Given the description of an element on the screen output the (x, y) to click on. 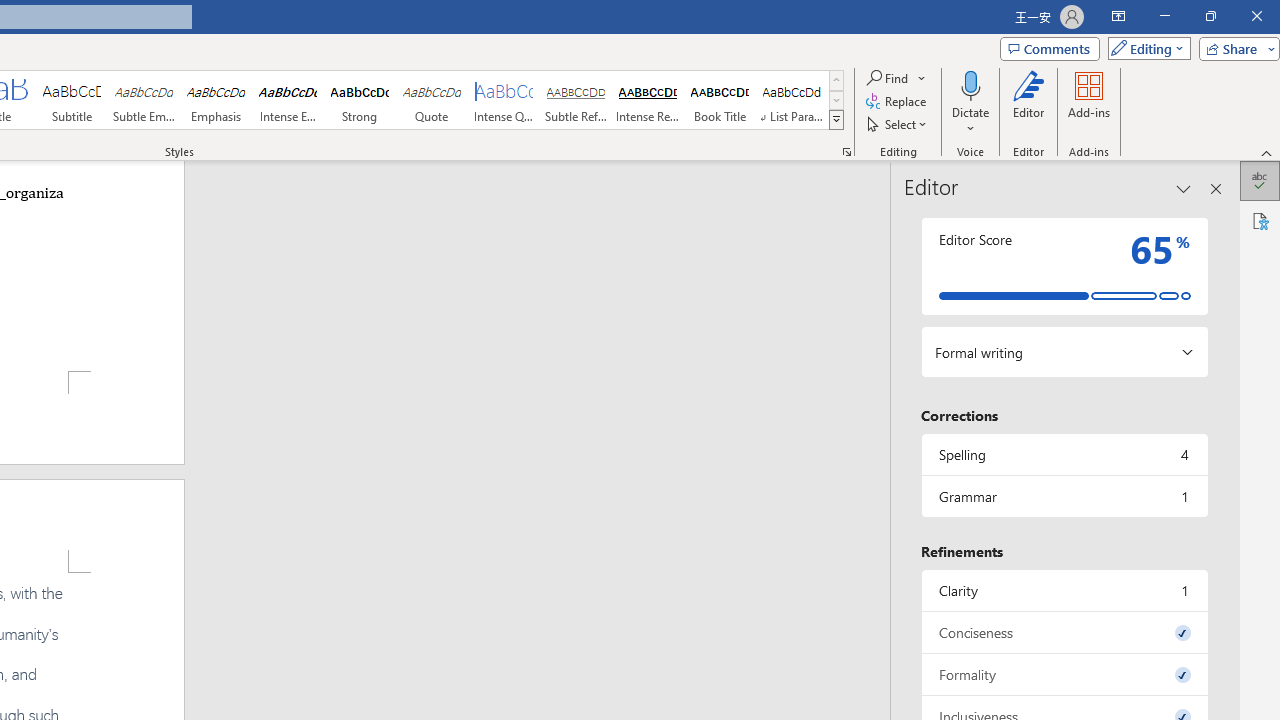
Subtle Reference (575, 100)
Formality, 0 issues. Press space or enter to review items. (1064, 673)
Intense Reference (647, 100)
Intense Emphasis (287, 100)
Accessibility (1260, 220)
